Given the description of an element on the screen output the (x, y) to click on. 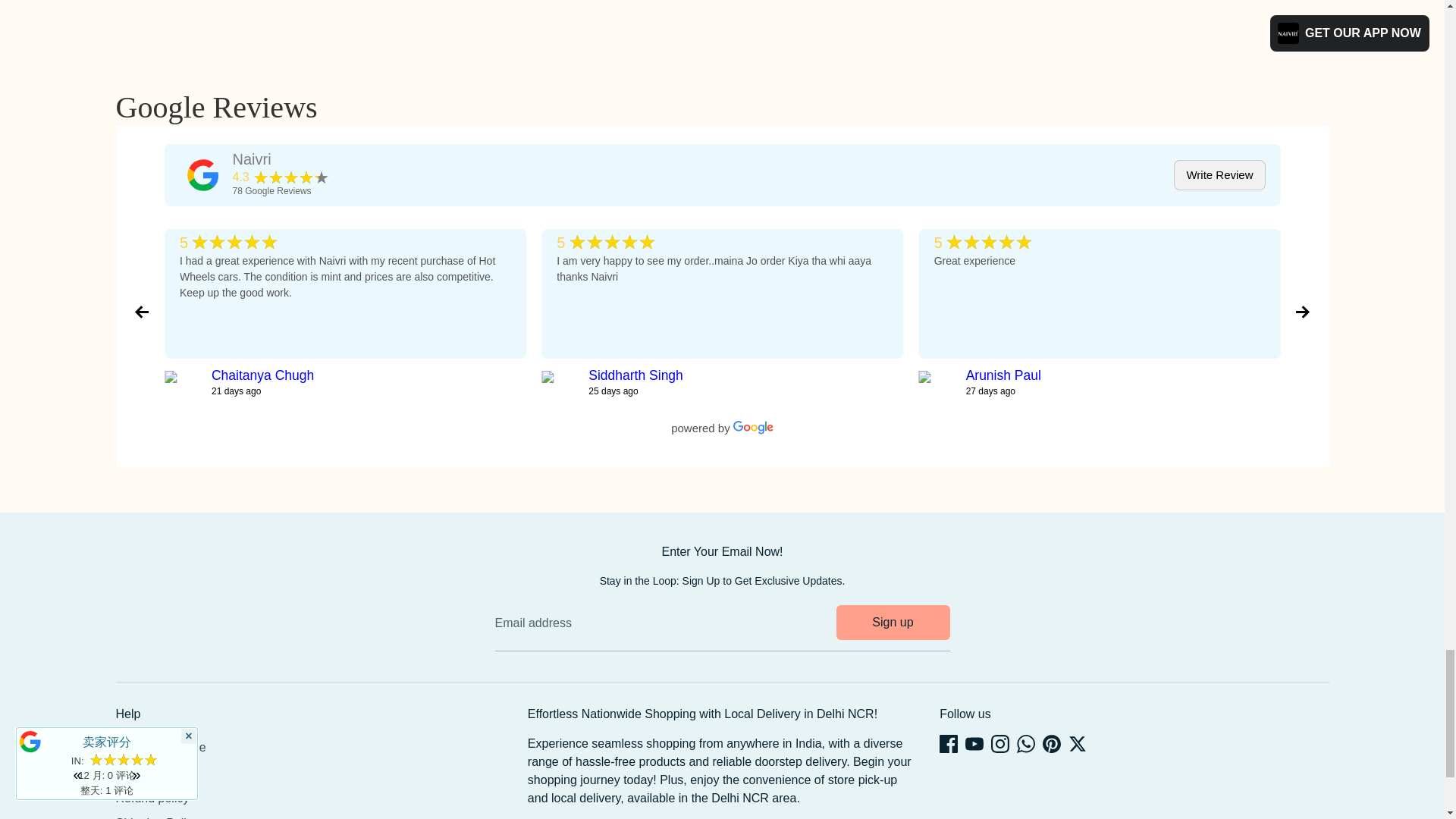
Naivri (280, 177)
Naivri (202, 175)
Naivri (280, 191)
